Given the description of an element on the screen output the (x, y) to click on. 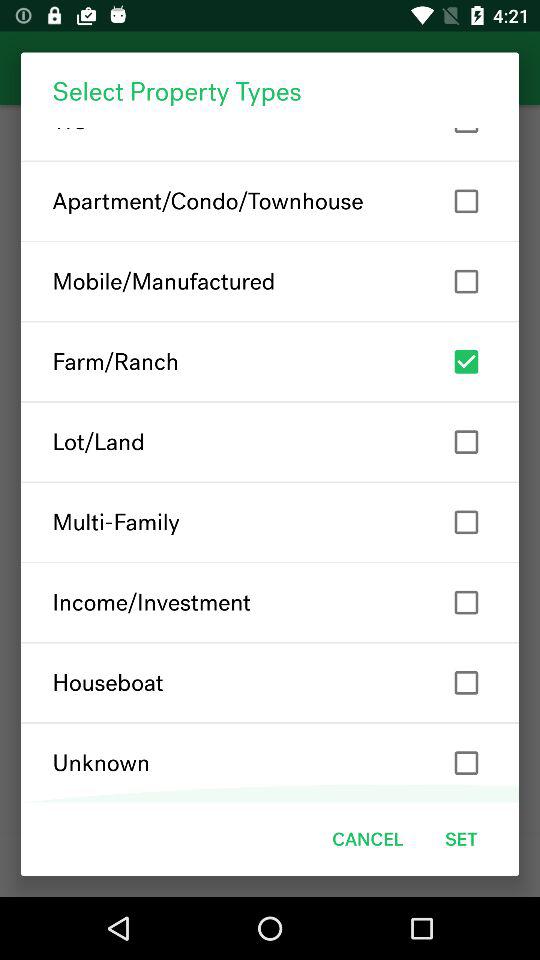
launch the item below the multi-family item (270, 602)
